Given the description of an element on the screen output the (x, y) to click on. 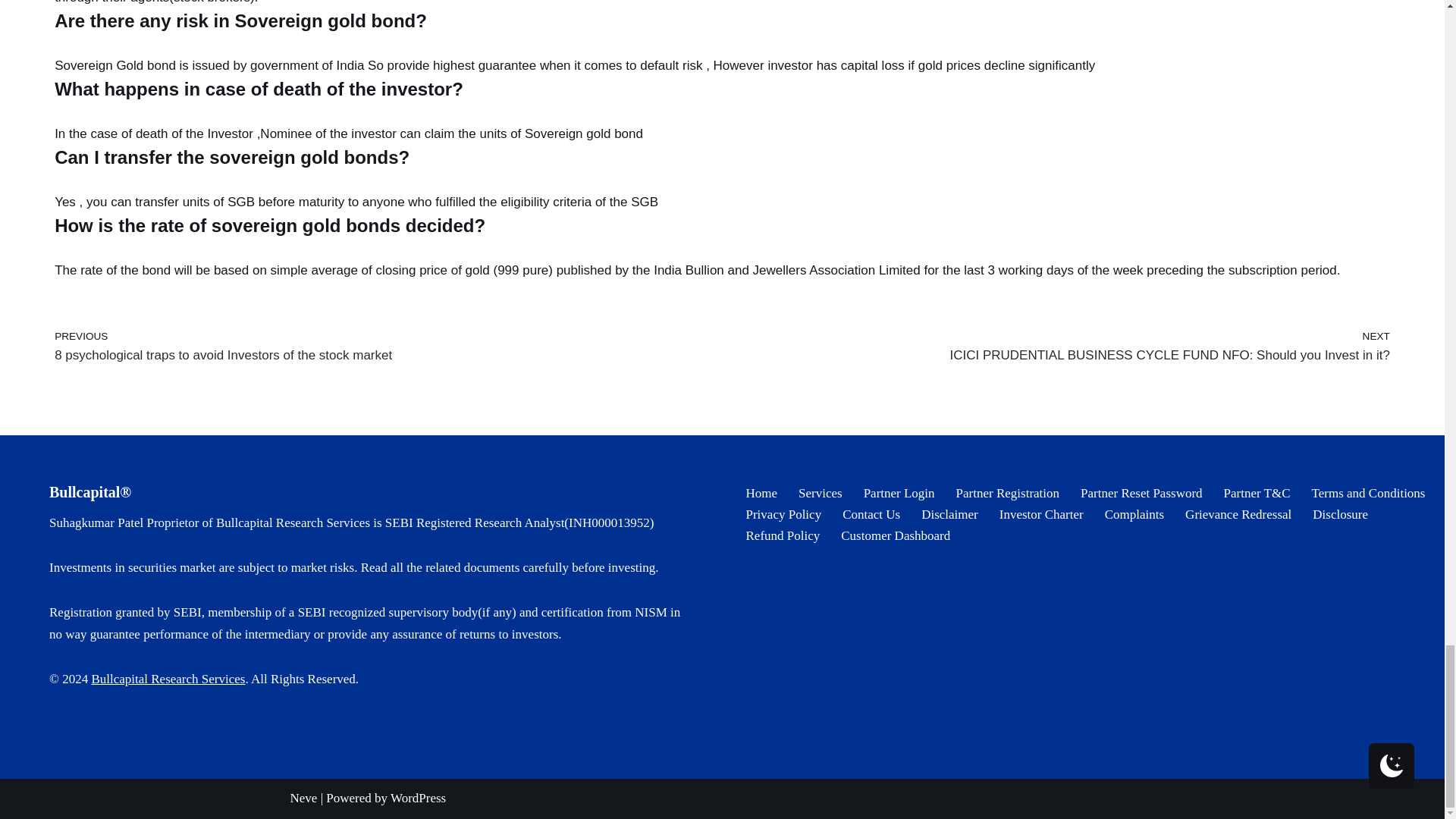
Contact Us (871, 513)
Partner Login (898, 492)
Partner Reset Password (1141, 492)
Bullcapital Research Services (167, 678)
Privacy Policy (783, 513)
Terms and Conditions (1368, 492)
Home (761, 492)
Disclaimer (949, 513)
